Given the description of an element on the screen output the (x, y) to click on. 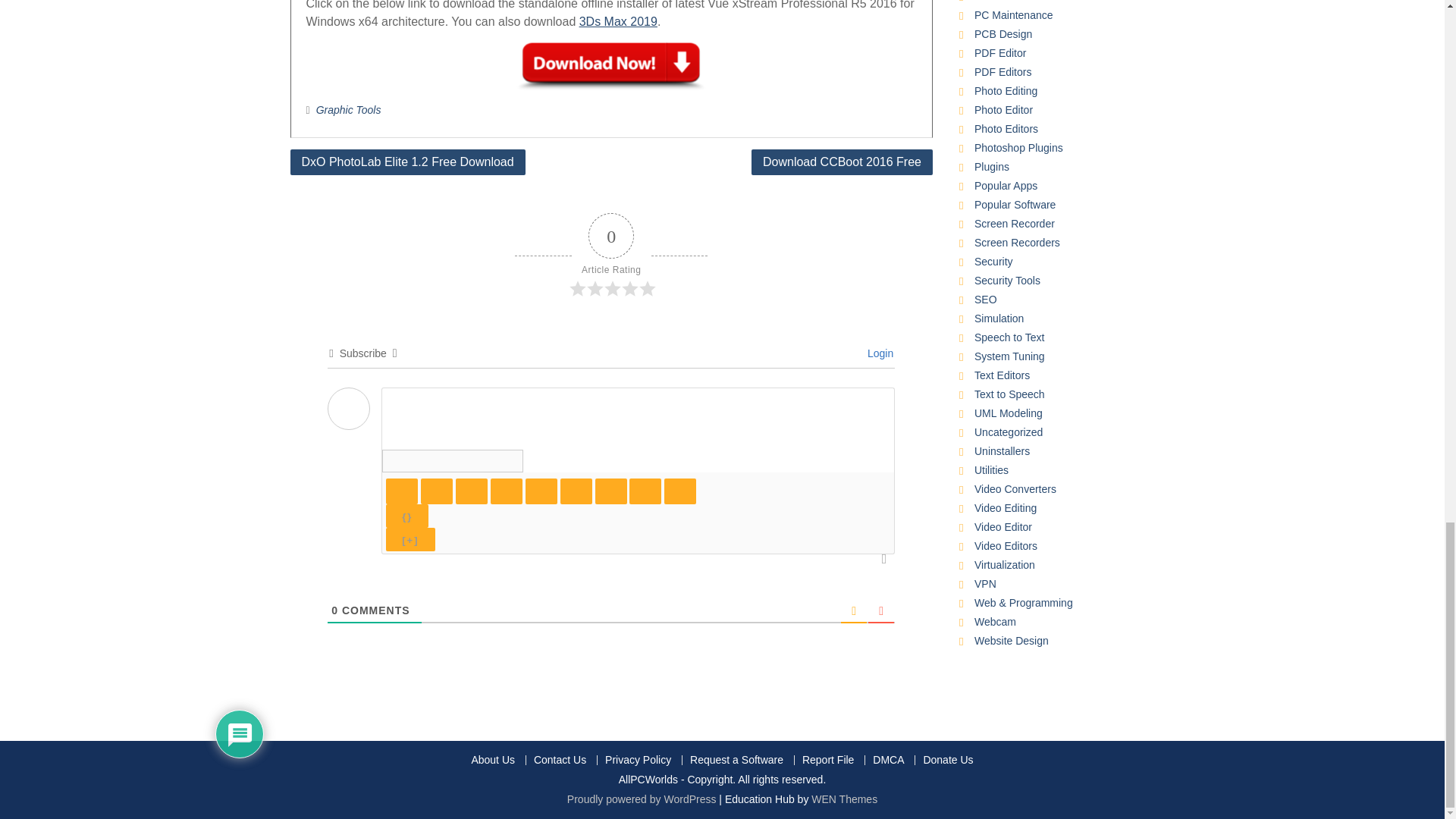
Download CCBoot 2016 Free (842, 162)
Blockquote (611, 491)
Link (679, 491)
Strike (506, 491)
Graphic Tools (348, 110)
Login (878, 353)
3Ds Max 2019 (618, 21)
Ordered List (541, 491)
Bold (401, 491)
Spoiler (409, 539)
